Given the description of an element on the screen output the (x, y) to click on. 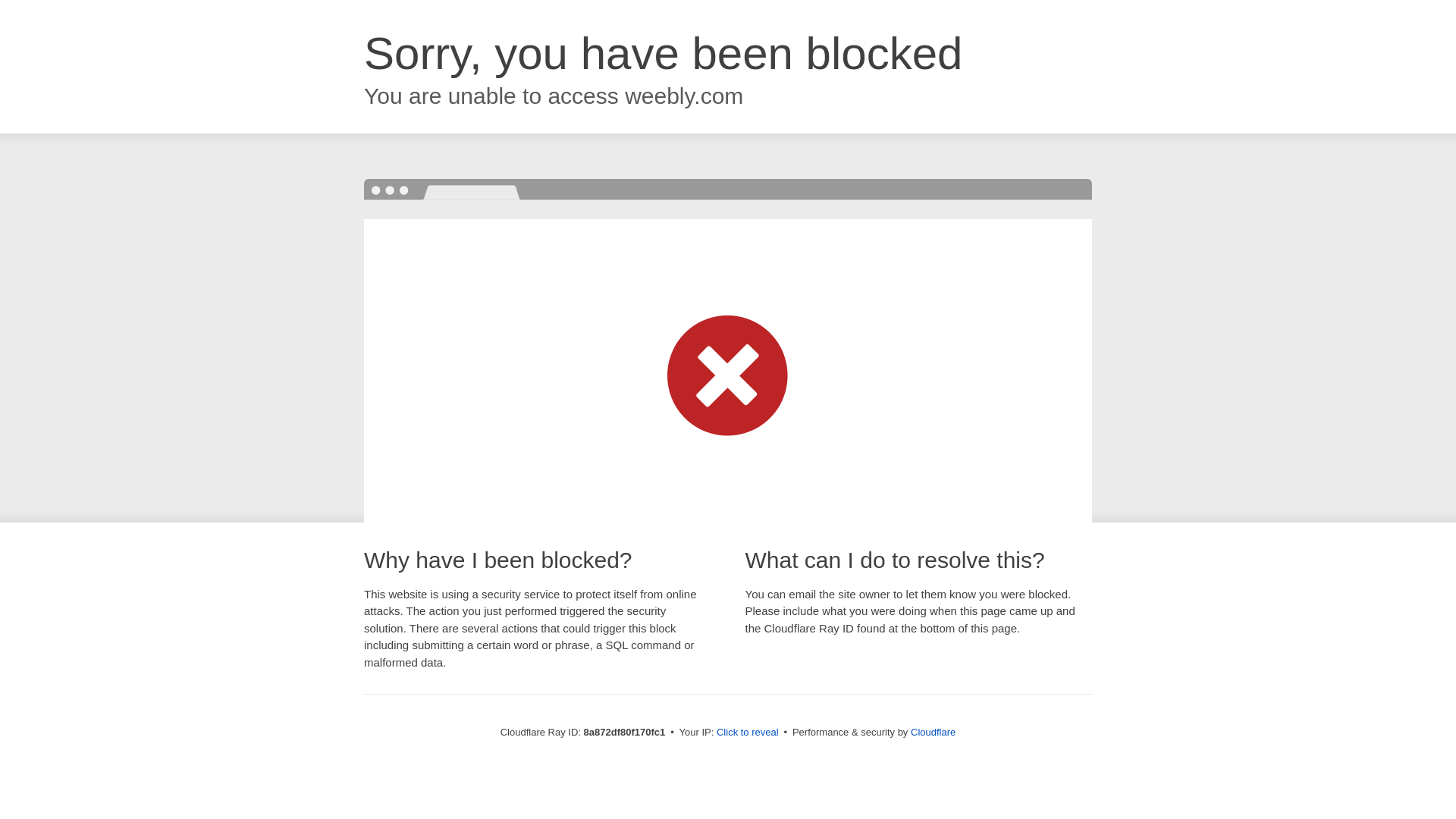
Cloudflare (933, 731)
Click to reveal (747, 732)
